Given the description of an element on the screen output the (x, y) to click on. 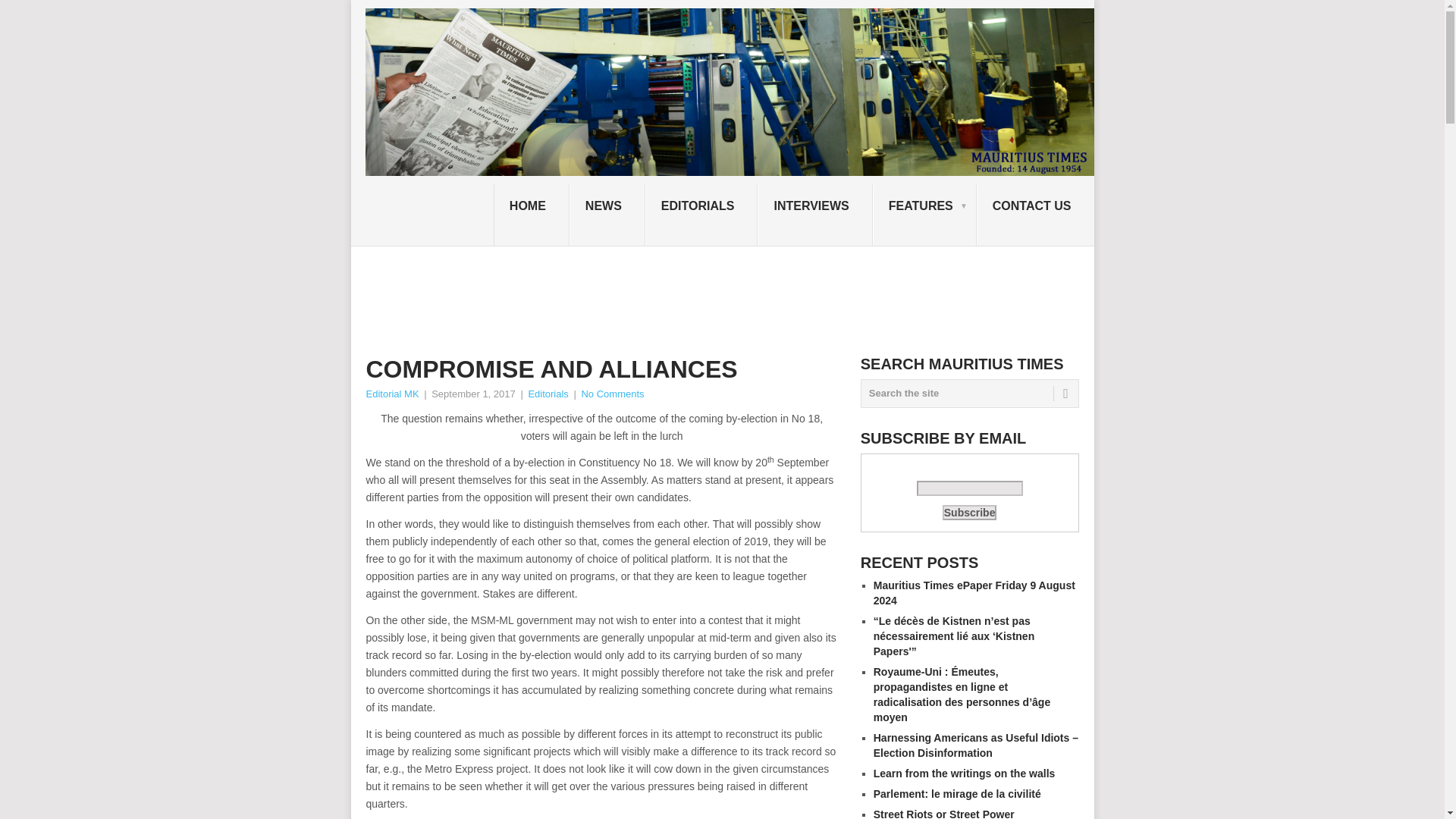
Subscribe (969, 512)
Editorials (547, 393)
FEATURES (924, 215)
EDITORIALS (701, 215)
NEWS (607, 215)
No Comments (611, 393)
HOME (531, 215)
Search the site (969, 393)
CONTACT US (1035, 215)
Advertisement (641, 298)
